Given the description of an element on the screen output the (x, y) to click on. 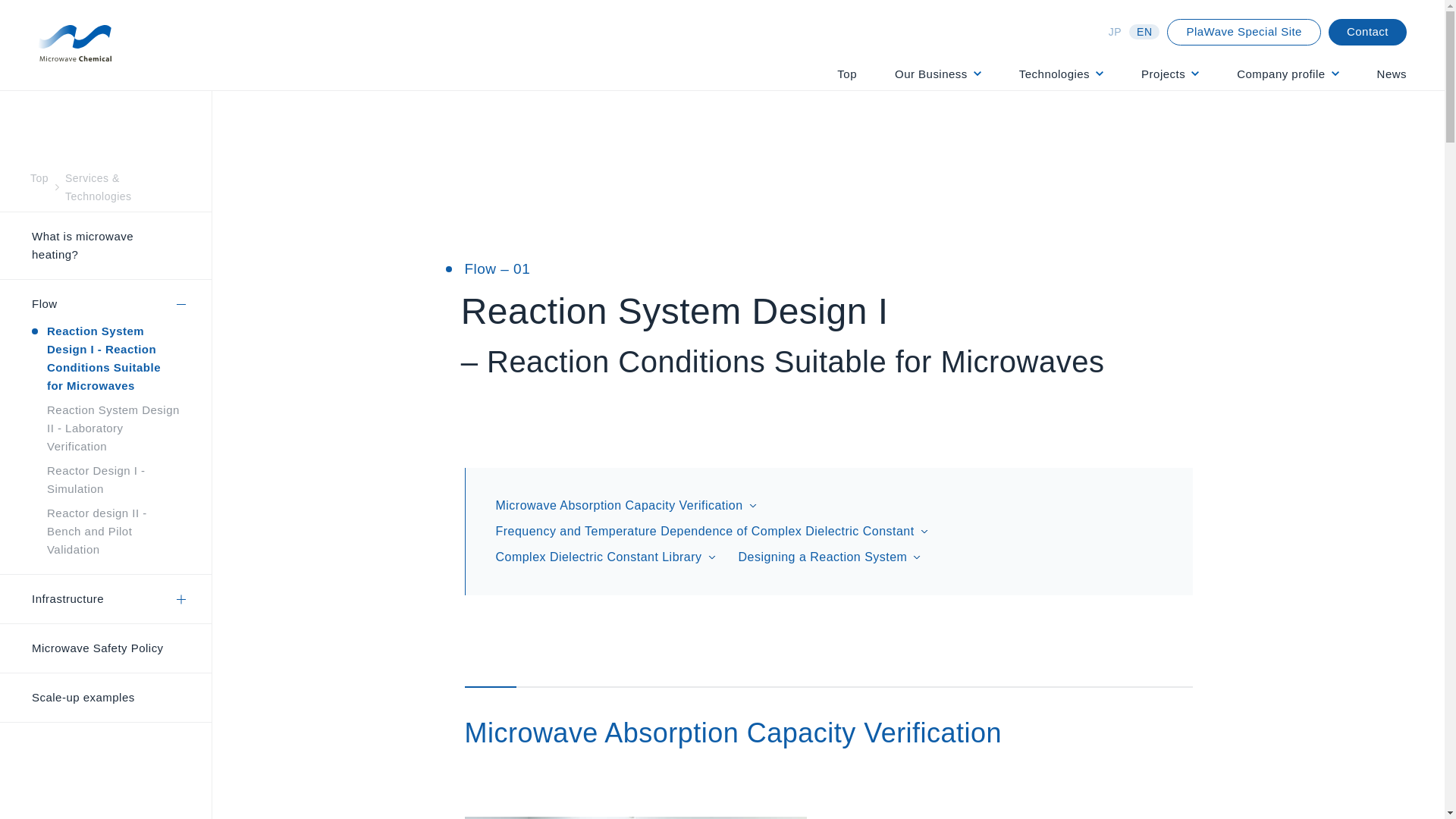
News (1391, 73)
PlaWave Special Site (1243, 31)
EN (1143, 31)
Projects (1169, 73)
Contact (1366, 31)
Company profile (1287, 73)
Our Business (938, 73)
Top (847, 73)
Technologies (1061, 73)
JP (1114, 31)
